Given the description of an element on the screen output the (x, y) to click on. 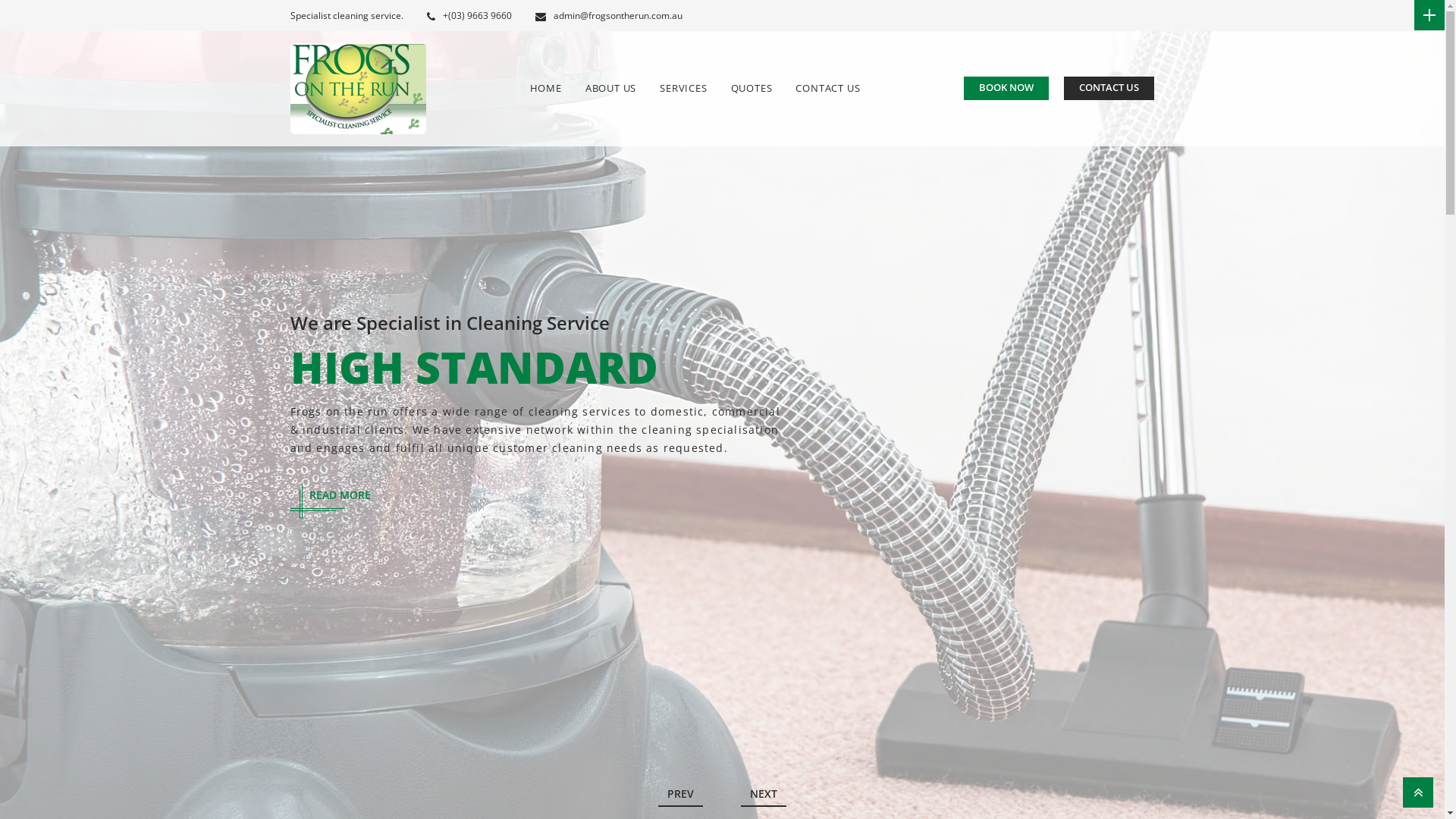
READ MORE Element type: text (339, 494)
admin@frogsontherun.com.au Element type: text (608, 14)
ABOUT US Element type: text (610, 87)
HOME Element type: text (545, 87)
+(03) 9663 9660 Element type: text (468, 14)
CONTACT US Element type: text (1108, 88)
QUOTES Element type: text (751, 87)
CONTACT US Element type: text (827, 87)
BOOK NOW Element type: text (1005, 88)
SERVICES Element type: text (682, 87)
